Given the description of an element on the screen output the (x, y) to click on. 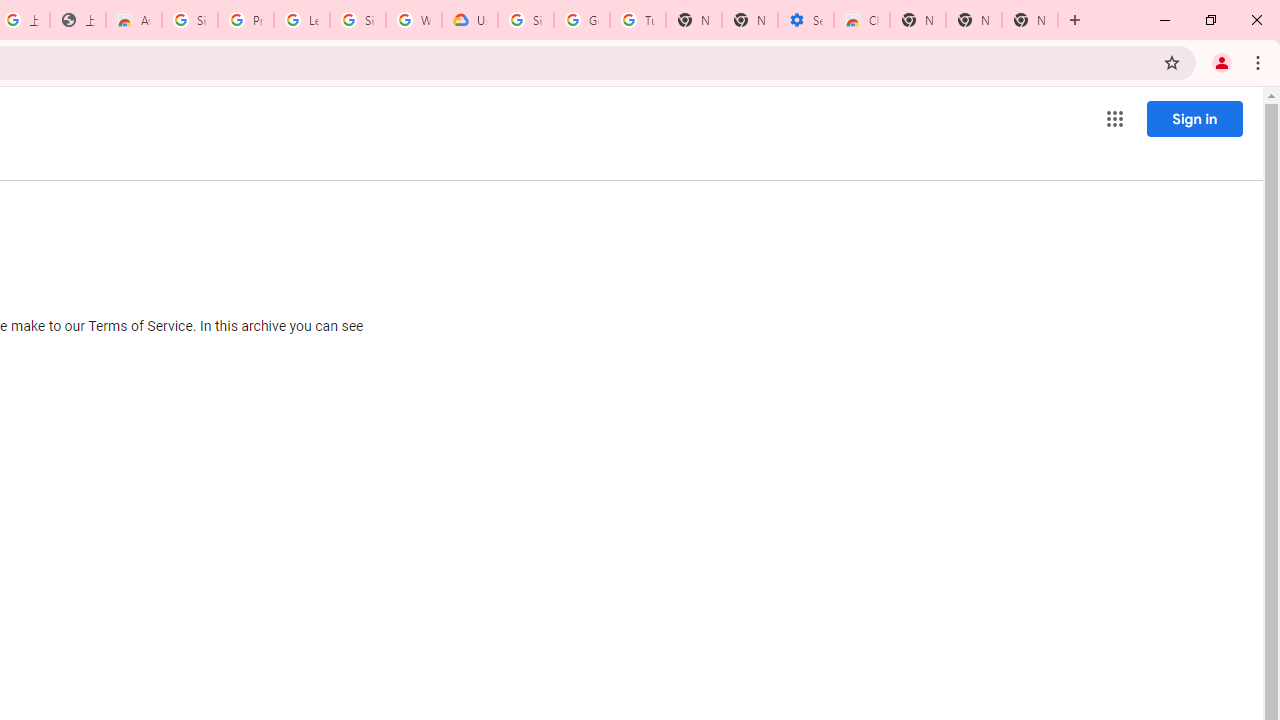
Sign in - Google Accounts (189, 20)
Sign in - Google Accounts (358, 20)
Settings - Accessibility (806, 20)
Awesome Screen Recorder & Screenshot - Chrome Web Store (134, 20)
